Given the description of an element on the screen output the (x, y) to click on. 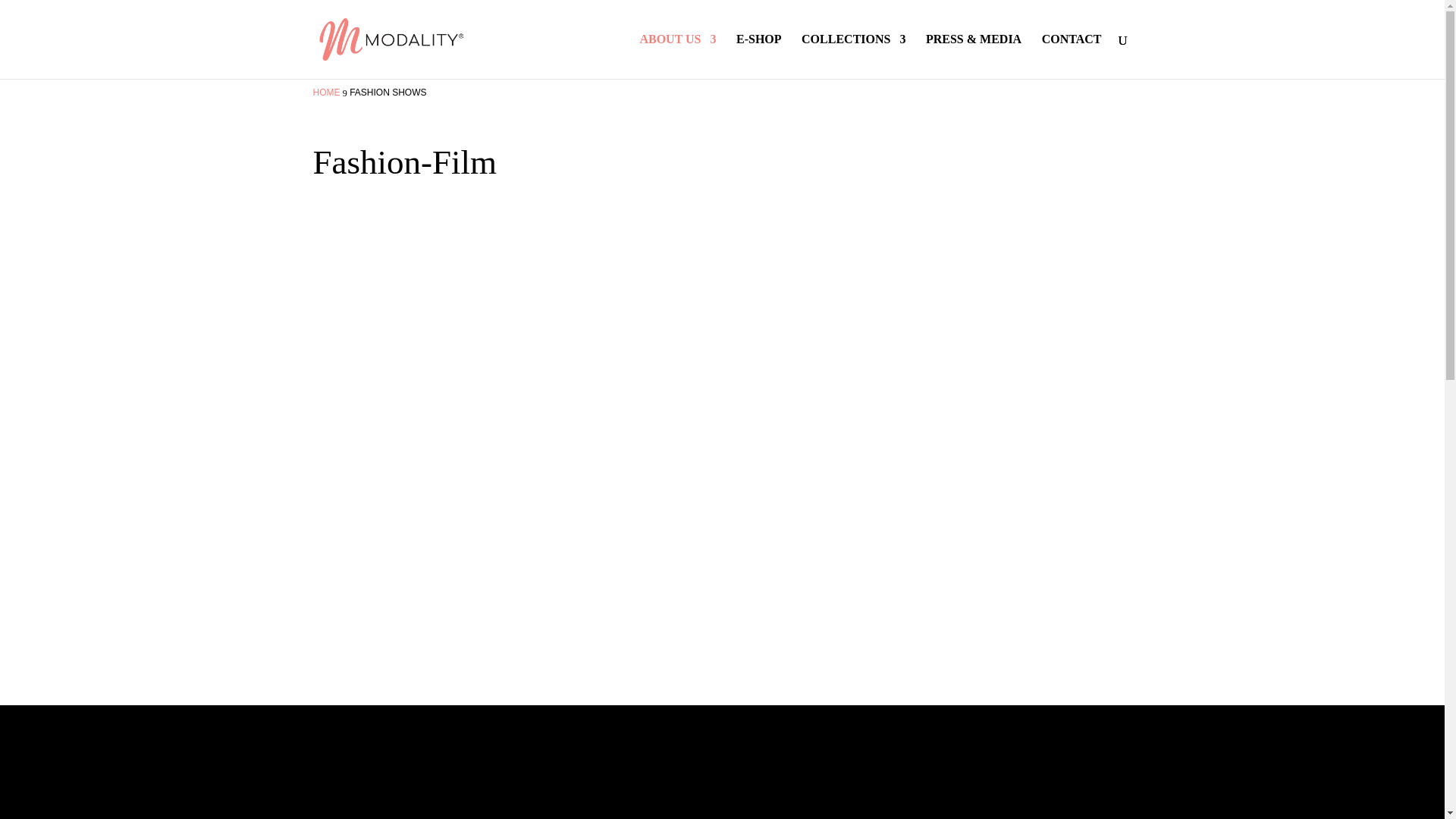
ABOUT US (677, 56)
COLLECTIONS (853, 56)
E-SHOP (758, 56)
CONTACT (1072, 56)
HOME (326, 91)
